Given the description of an element on the screen output the (x, y) to click on. 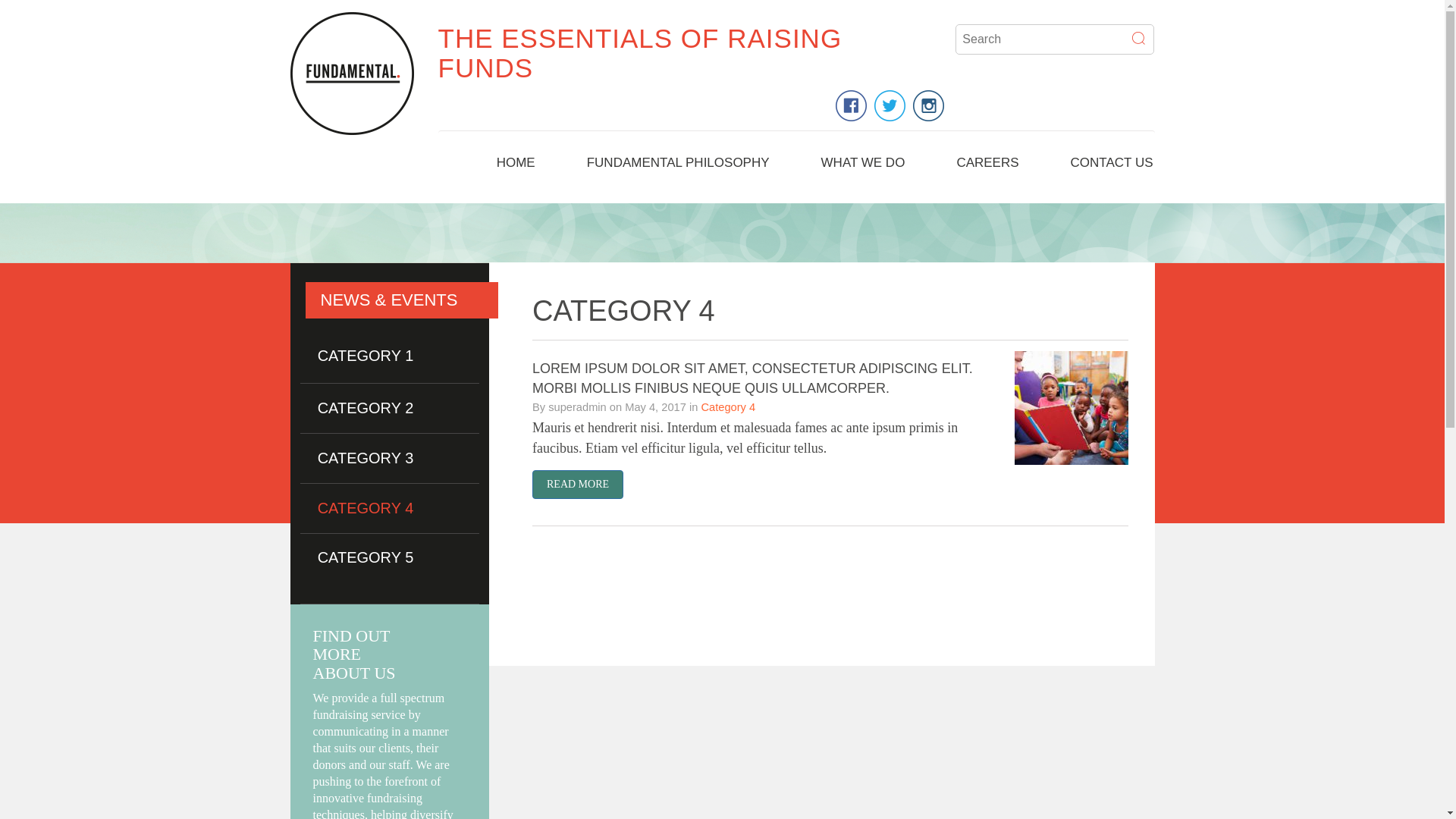
CATEGORY 2 Element type: text (365, 407)
CATEGORY 1 Element type: text (365, 355)
WHAT WE DO Element type: text (863, 167)
search Element type: text (1138, 38)
CAREERS Element type: text (987, 167)
CATEGORY 3 Element type: text (365, 457)
FUNDAMENTAL PHILOSOPHY Element type: text (678, 167)
CATEGORY 4 Element type: text (365, 507)
HOME Element type: text (515, 167)
Category 4 Element type: text (727, 407)
CATEGORY 5 Element type: text (365, 557)
READ MORE Element type: text (577, 484)
CONTACT US Element type: text (1111, 167)
